Given the description of an element on the screen output the (x, y) to click on. 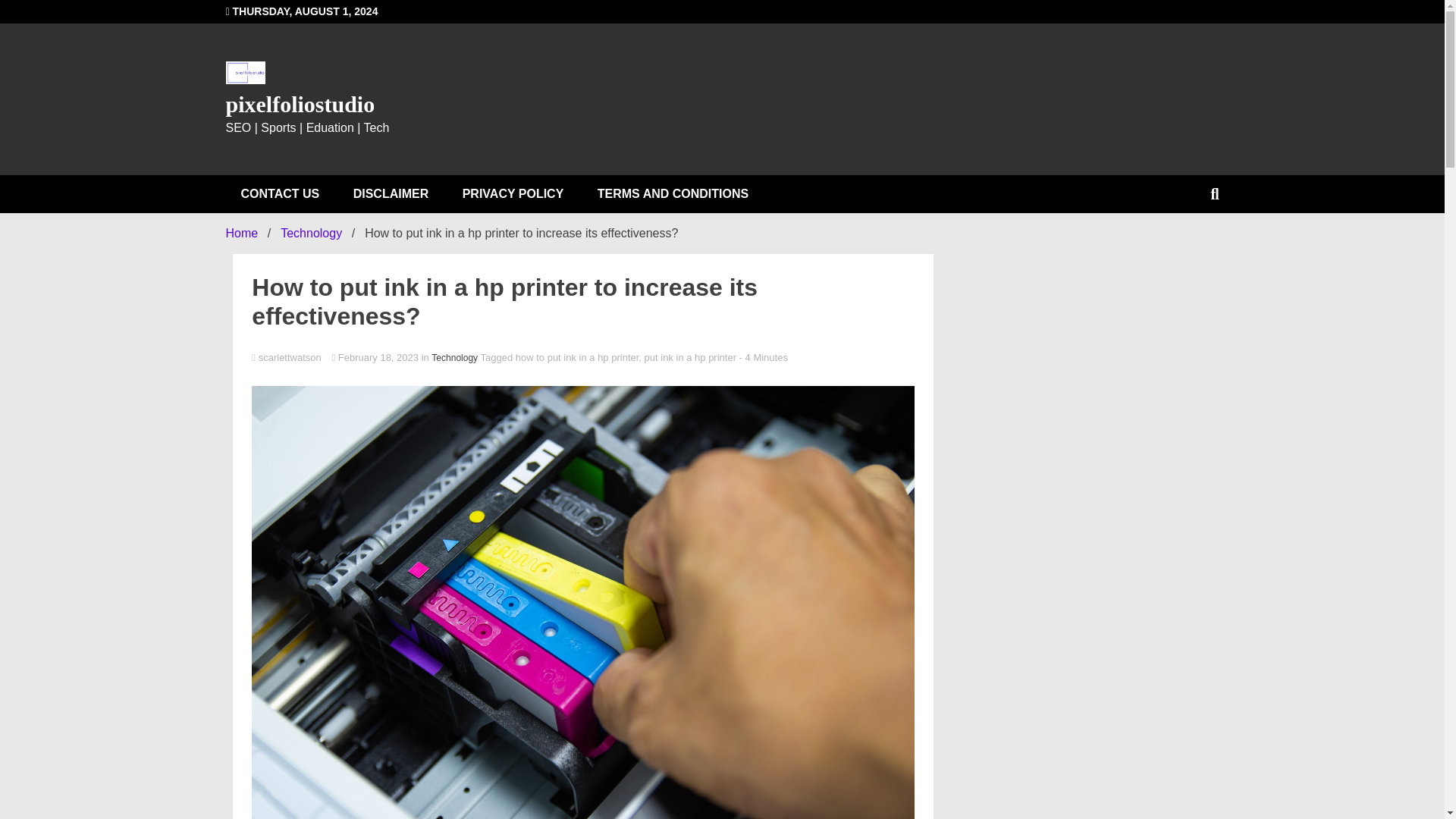
PRIVACY POLICY (512, 193)
Estimated Reading Time of Article (763, 357)
February 18, 2023 (375, 357)
how to put ink in a hp printer (577, 357)
Home (242, 232)
scarlettwatson (582, 358)
Technology (311, 232)
TERMS AND CONDITIONS (672, 193)
DISCLAIMER (390, 193)
pixelfoliostudio (300, 104)
Technology (453, 357)
CONTACT US (279, 193)
put ink in a hp printer (690, 357)
